Given the description of an element on the screen output the (x, y) to click on. 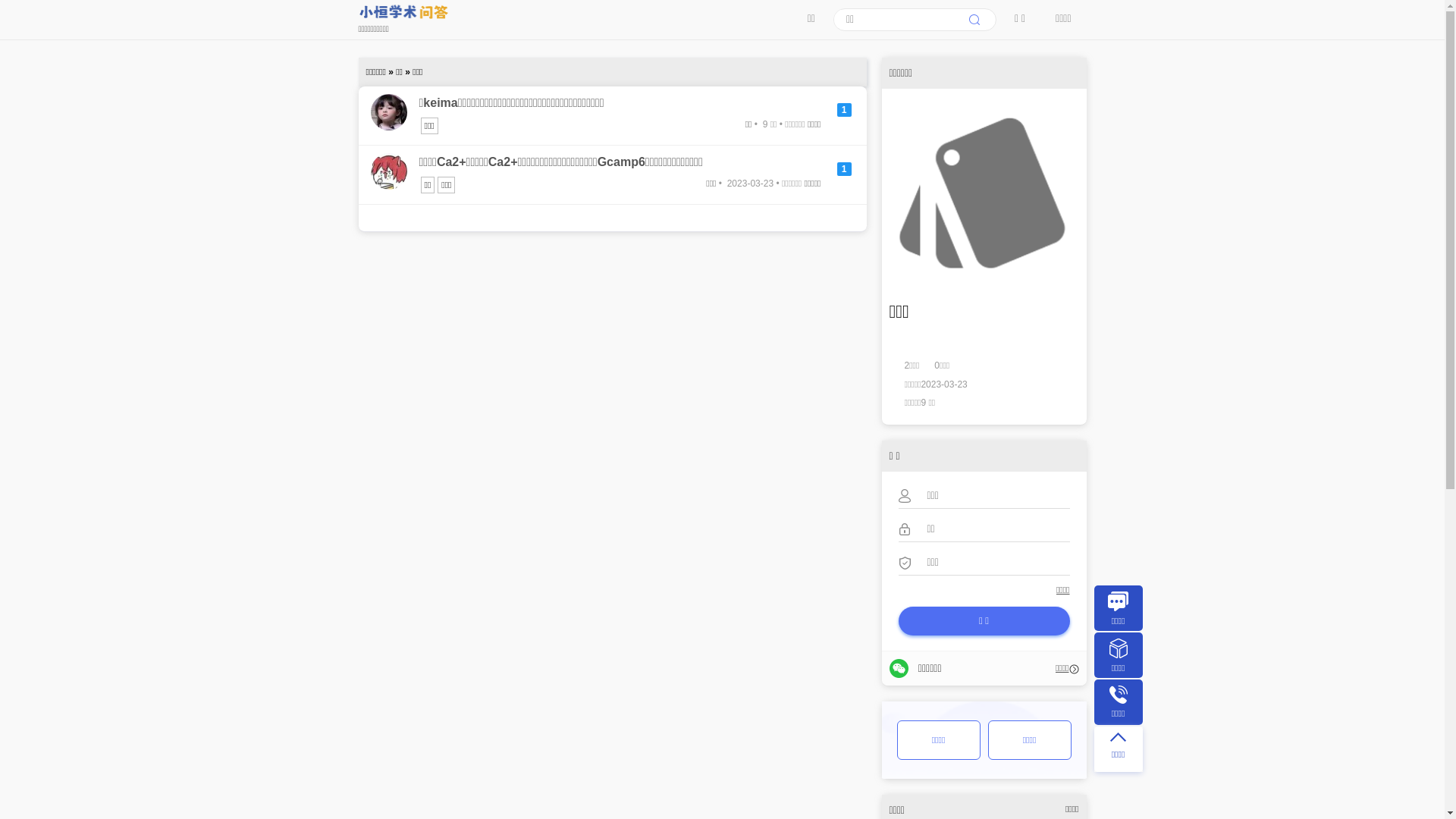
1 Element type: text (844, 168)
1 Element type: text (844, 109)
